Given the description of an element on the screen output the (x, y) to click on. 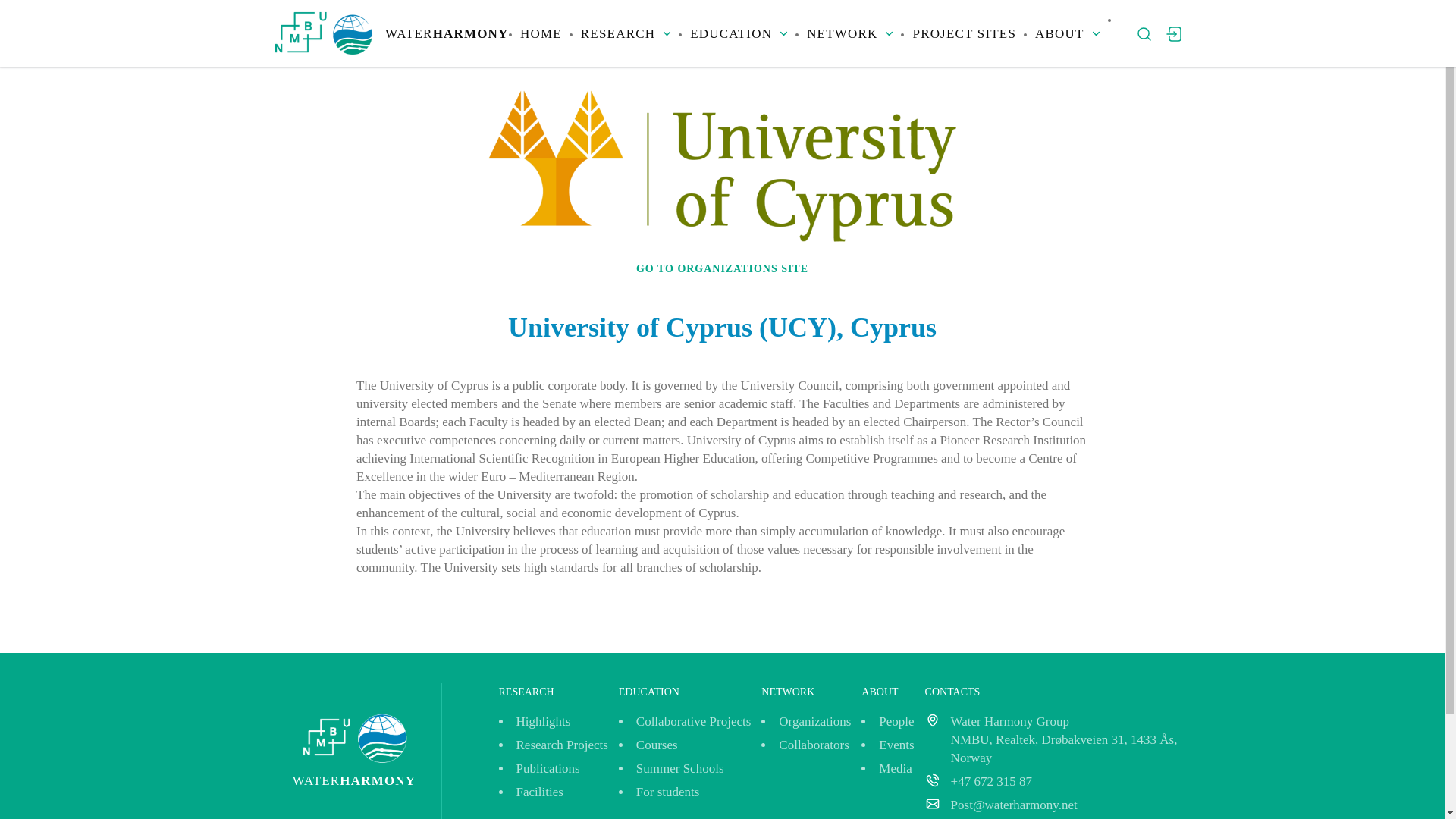
Organizations (814, 721)
PROJECT SITES (964, 33)
Research Projects (561, 744)
EDUCATION (738, 33)
Facilities (538, 791)
Highlights (542, 721)
Collaborative Projects (693, 721)
GO TO ORGANIZATIONS SITE (722, 268)
WATERHARMONY (390, 33)
NETWORK (849, 33)
